Given the description of an element on the screen output the (x, y) to click on. 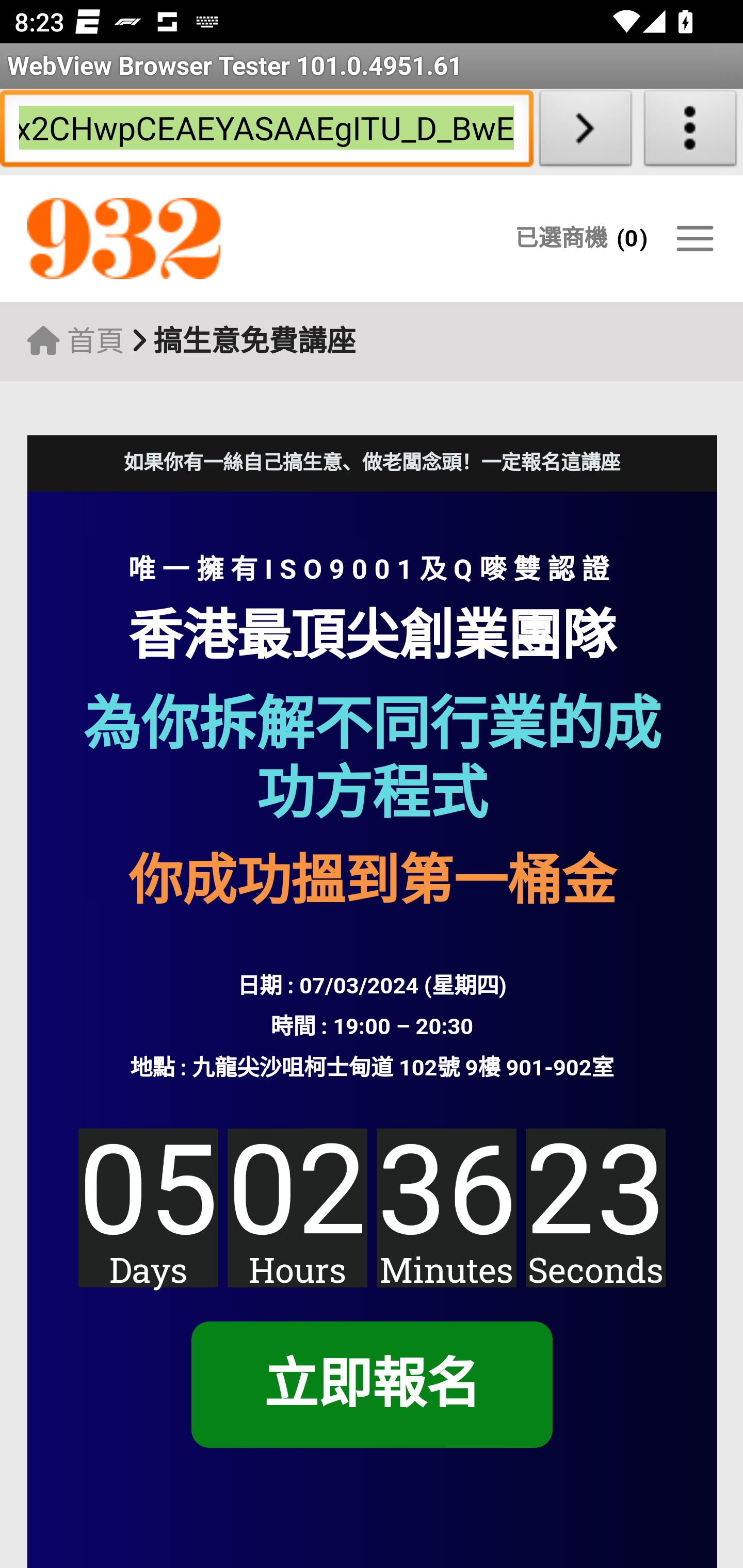
Load URL (585, 132)
About WebView (690, 132)
已選商機 ( 0 ) 已選商機 ( 0 ) (580, 237)
Menu  (694, 237)
932香港生意轉讓平台 (207, 238)
 首頁   首頁 (75, 341)
立即報名 (370, 1385)
